Given the description of an element on the screen output the (x, y) to click on. 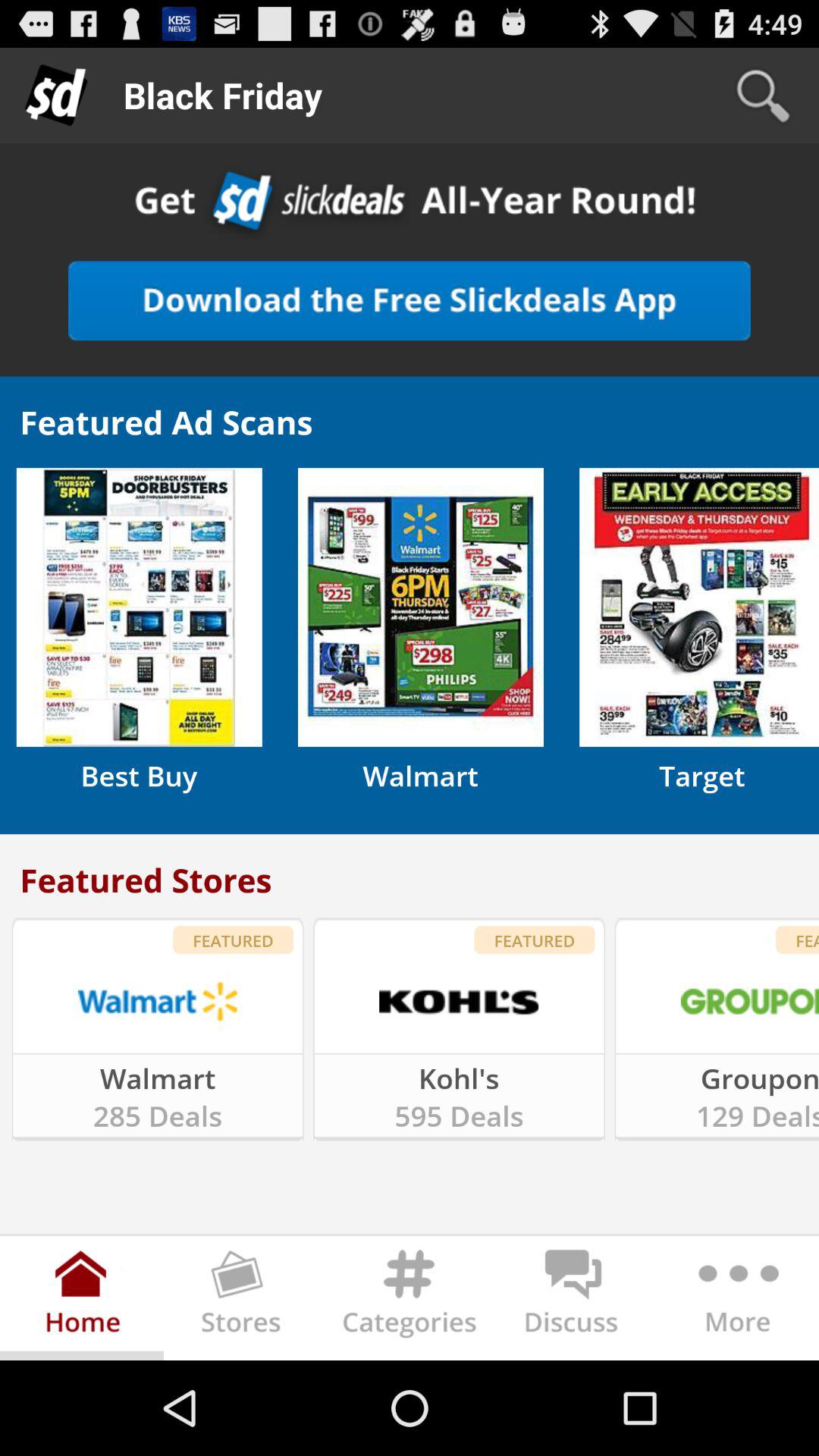
click on categories (409, 1301)
